Given the description of an element on the screen output the (x, y) to click on. 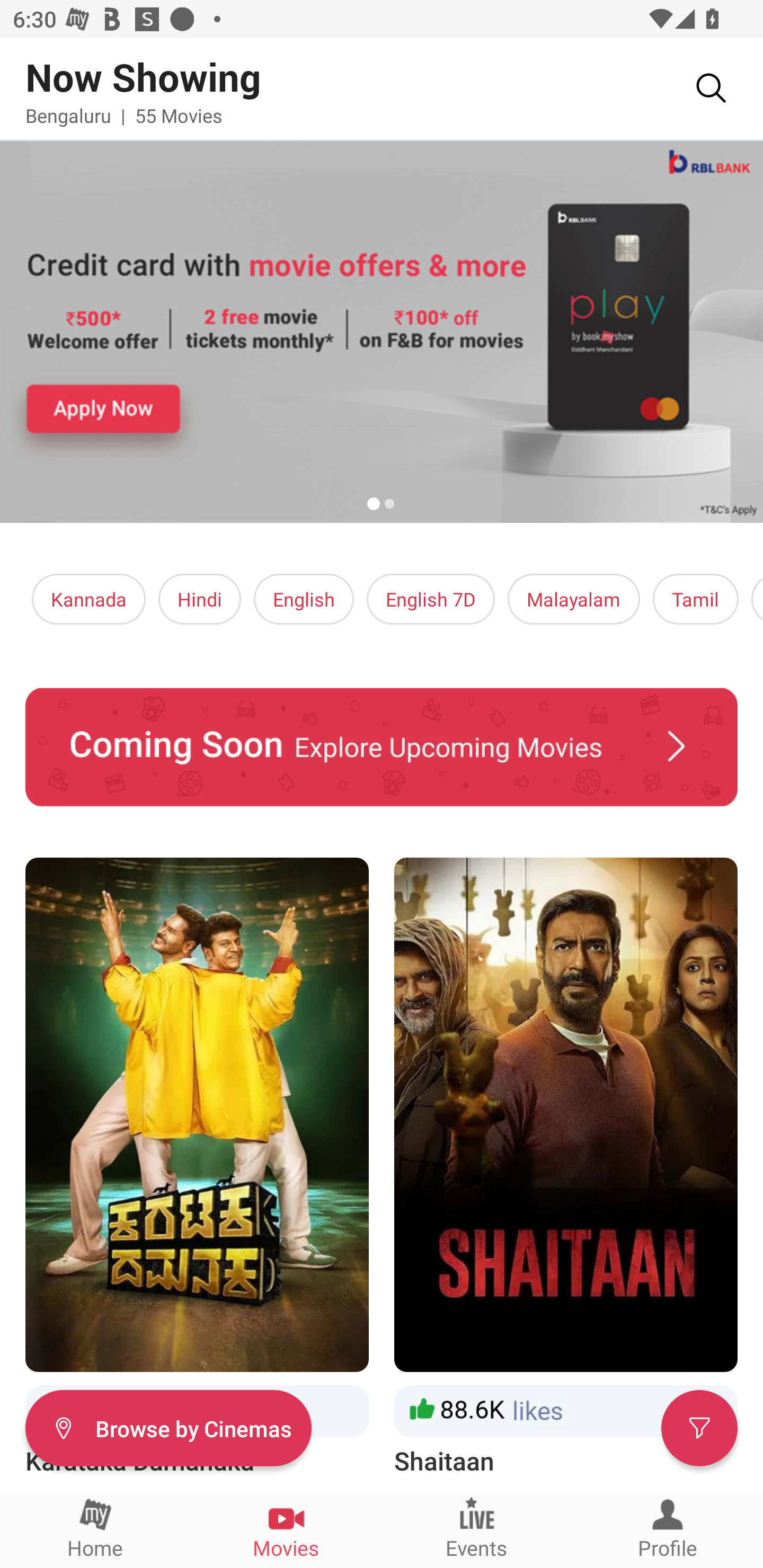
Bengaluru  |  55 Movies (123, 114)
Kannada (88, 598)
Hindi (199, 598)
English (304, 598)
English 7D (431, 598)
Malayalam (573, 598)
Tamil (695, 598)
Karataka Damanaka (196, 1167)
Shaitaan (565, 1167)
Filter Browse by Cinemas (168, 1427)
Filter (699, 1427)
Home (95, 1529)
Movies (285, 1529)
Events (476, 1529)
Profile (667, 1529)
